Given the description of an element on the screen output the (x, y) to click on. 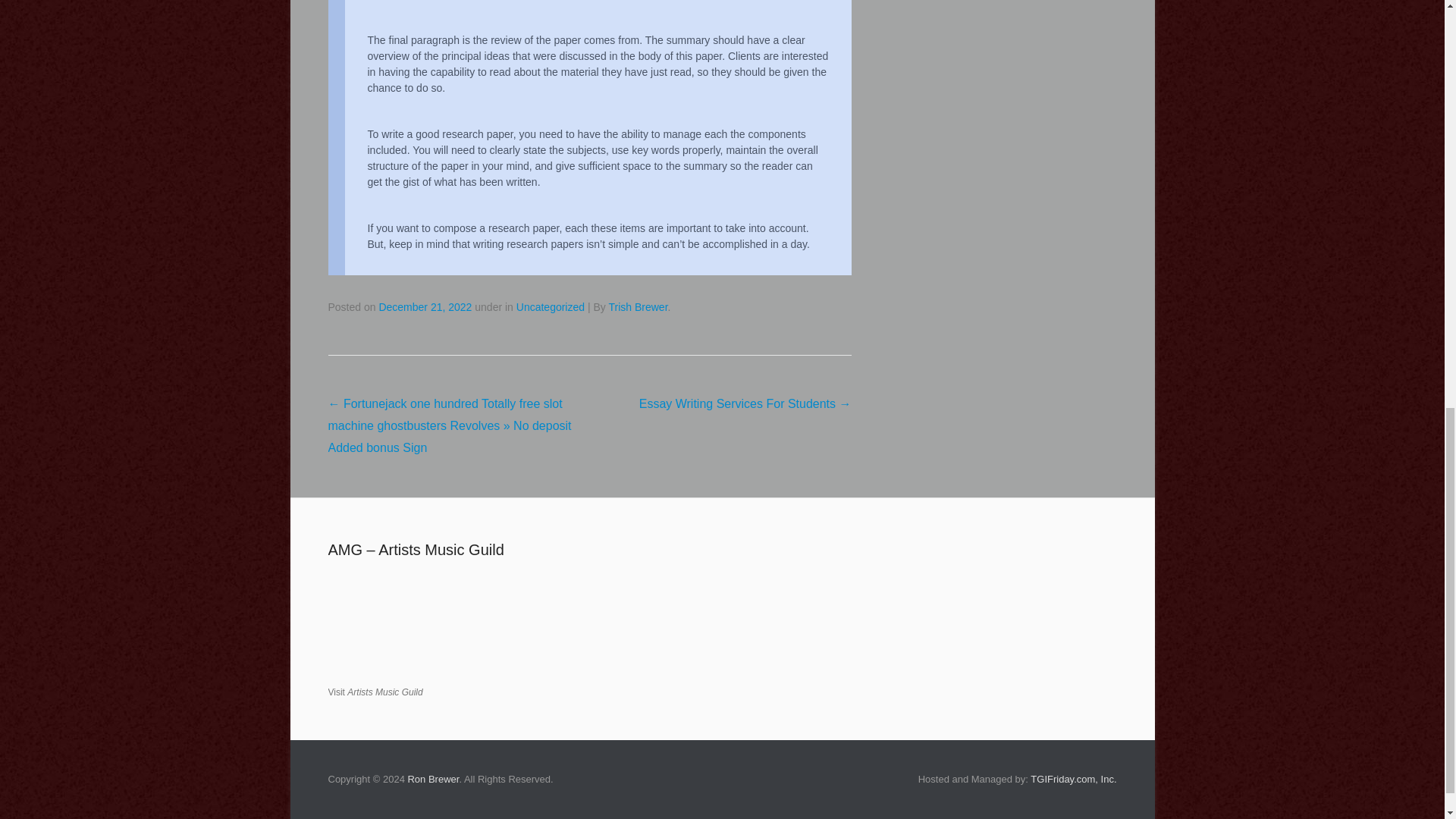
Uncategorized (550, 306)
Ron Brewer (432, 778)
12:11 am (424, 306)
Trish Brewer (637, 306)
TGIFriday.com, Inc. (1073, 778)
December 21, 2022 (424, 306)
View all posts by Trish Brewer (637, 306)
Visit Artists Music Guild (374, 691)
Ron Brewer (432, 778)
